Given the description of an element on the screen output the (x, y) to click on. 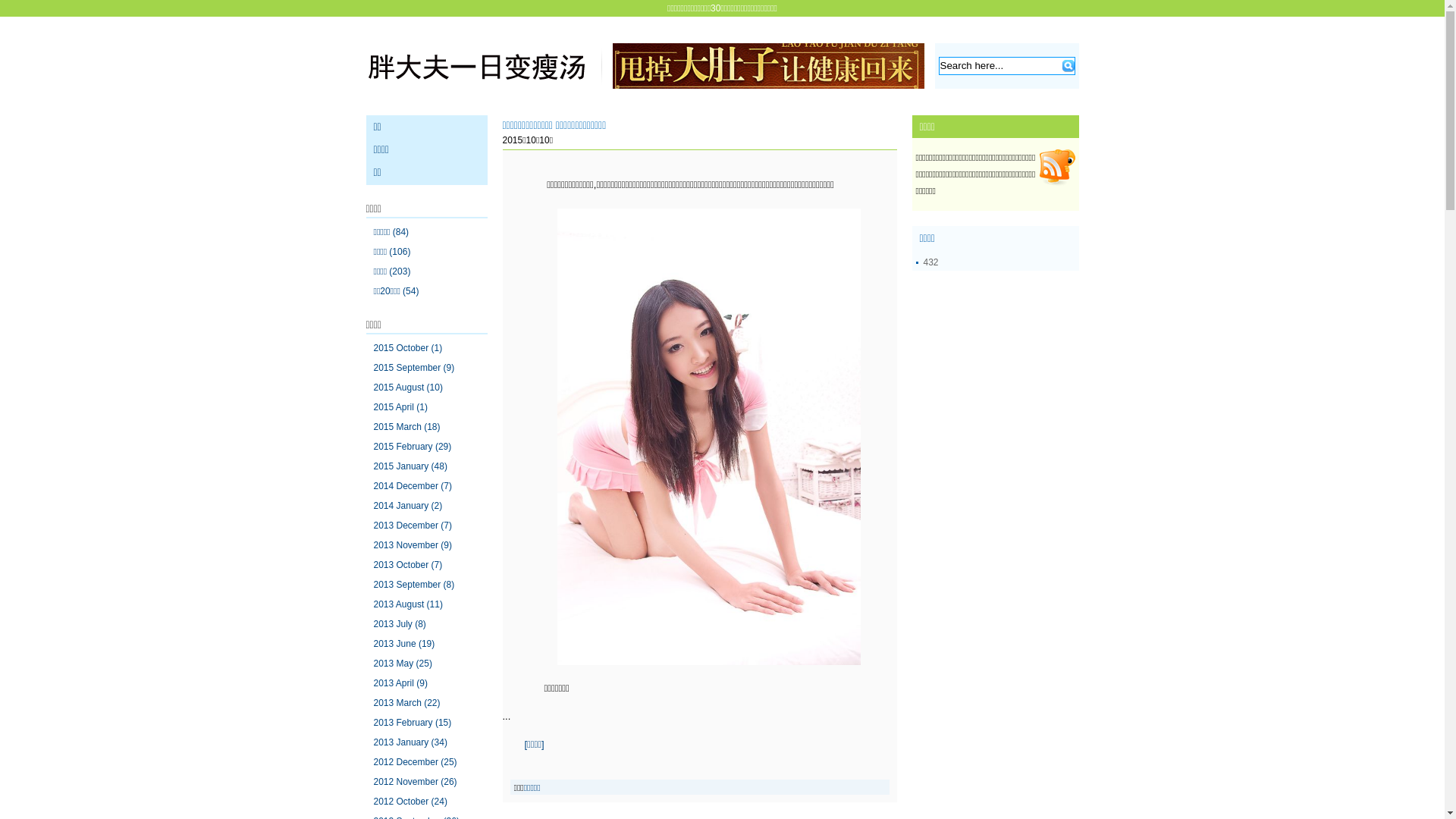
2013 March (22) Element type: text (406, 702)
2013 December (7) Element type: text (412, 525)
2013 June (19) Element type: text (403, 643)
2013 October (7) Element type: text (407, 564)
2015 February (29) Element type: text (412, 446)
2014 December (7) Element type: text (412, 485)
432 Element type: text (930, 262)
2013 February (15) Element type: text (412, 722)
2013 April (9) Element type: text (399, 682)
2015 April (1) Element type: text (399, 406)
2013 July (8) Element type: text (399, 623)
2013 January (34) Element type: text (409, 742)
2012 November (26) Element type: text (414, 781)
2015 August (10) Element type: text (407, 387)
2012 December (25) Element type: text (414, 761)
2013 September (8) Element type: text (413, 584)
2013 May (25) Element type: text (402, 663)
2014 January (2) Element type: text (407, 505)
2015 March (18) Element type: text (406, 426)
2015 September (9) Element type: text (413, 367)
2012 October (24) Element type: text (409, 801)
2013 August (11) Element type: text (407, 604)
2013 November (9) Element type: text (412, 544)
2015 January (48) Element type: text (409, 466)
2015 October (1) Element type: text (407, 347)
